Given the description of an element on the screen output the (x, y) to click on. 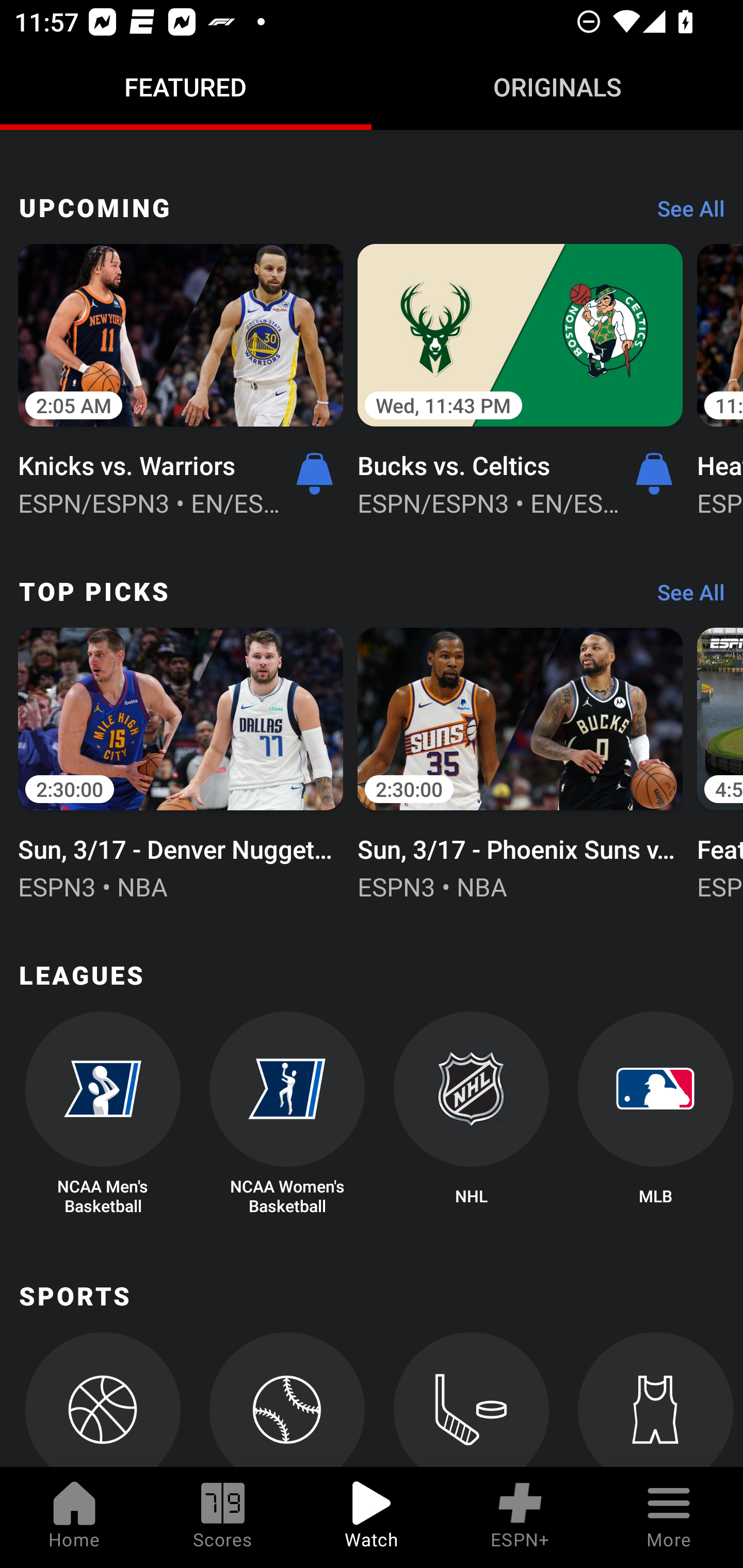
Originals ORIGINALS (557, 86)
See All (683, 212)
See All (683, 596)
NCAA Men's Basketball (102, 1113)
NCAA Women's Basketball (286, 1113)
NHL (471, 1113)
MLB (655, 1113)
Home (74, 1517)
Scores (222, 1517)
ESPN+ (519, 1517)
More (668, 1517)
